Given the description of an element on the screen output the (x, y) to click on. 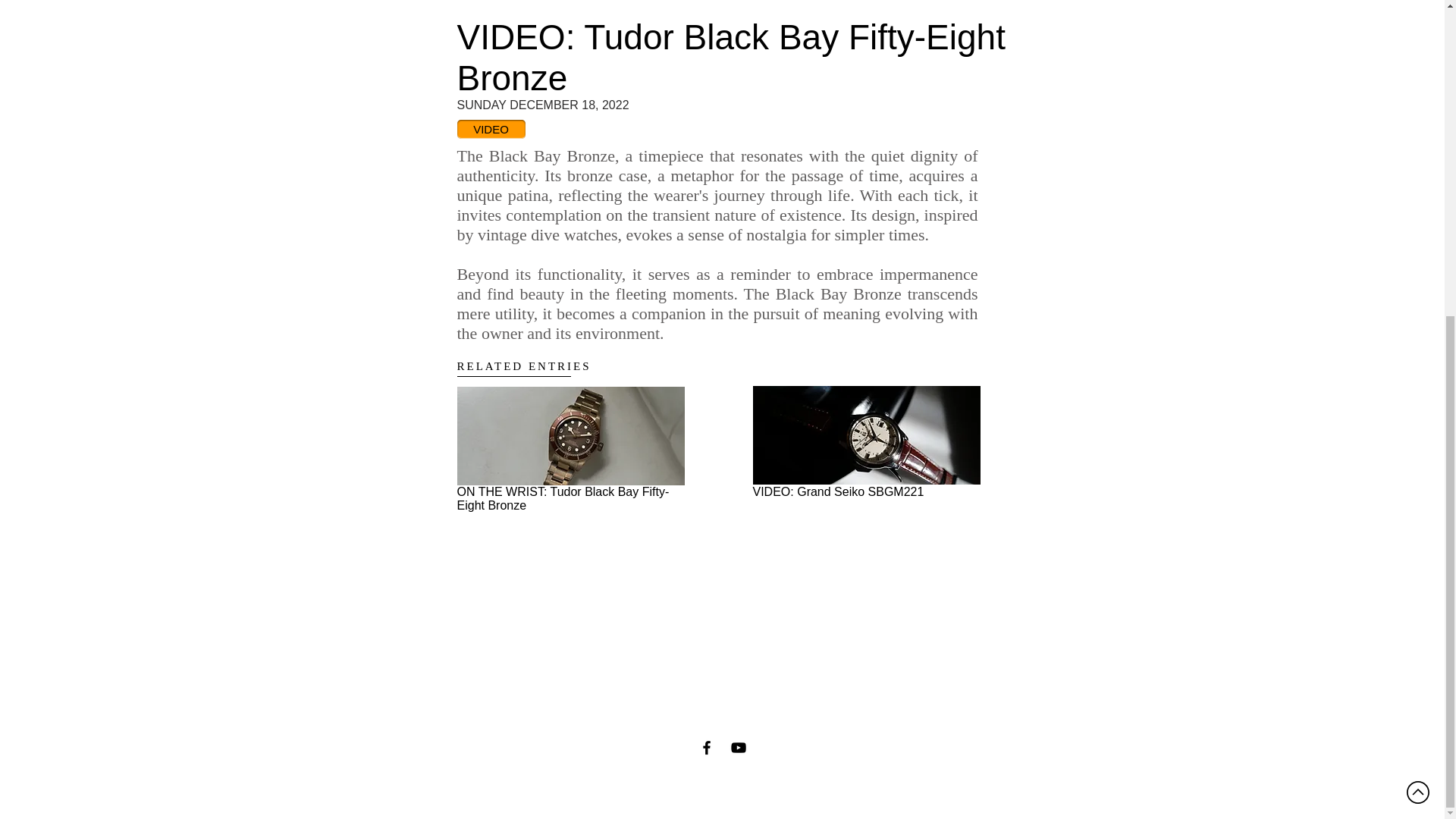
VIDEO (490, 128)
Twitter Tweet (763, 542)
Facebook Like (688, 542)
